Given the description of an element on the screen output the (x, y) to click on. 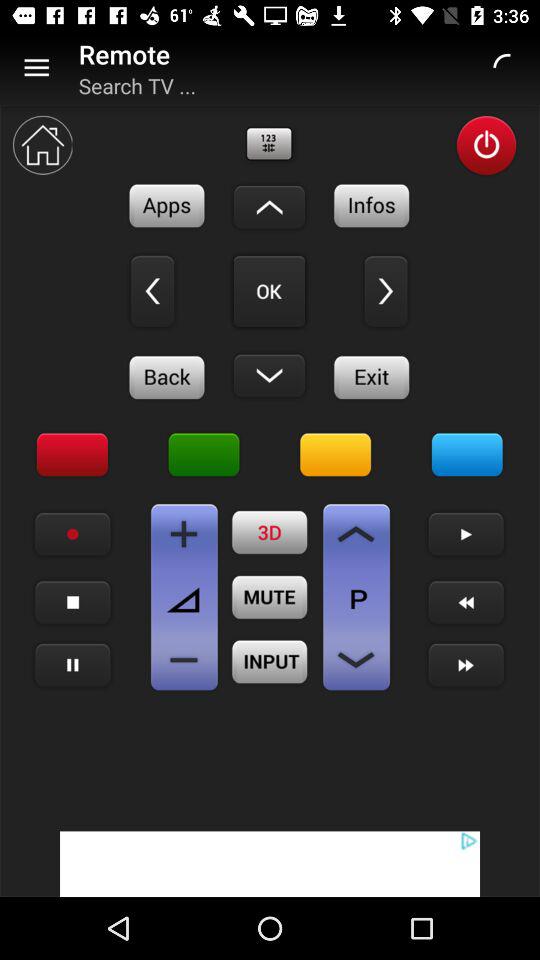
exit the menu (371, 377)
